Given the description of an element on the screen output the (x, y) to click on. 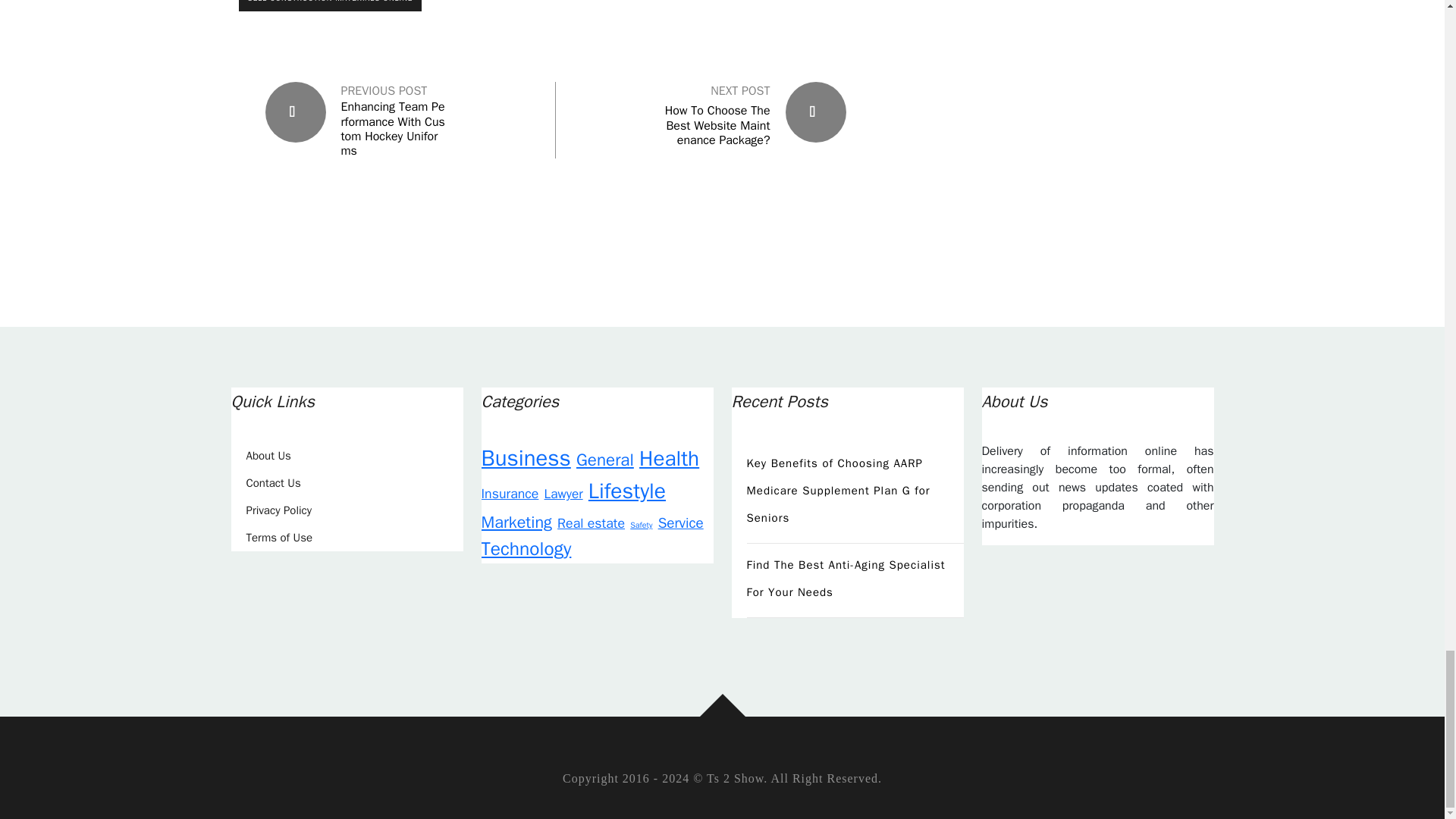
PREVIOUS POST (384, 90)
NEXT POST (740, 90)
SELL CONSTRUCTION MATERIALS ONLINE (330, 5)
Enhancing Team Performance With Custom Hockey Uniforms (393, 128)
How To Choose The Best Website Maintenance Package? (717, 125)
